Given the description of an element on the screen output the (x, y) to click on. 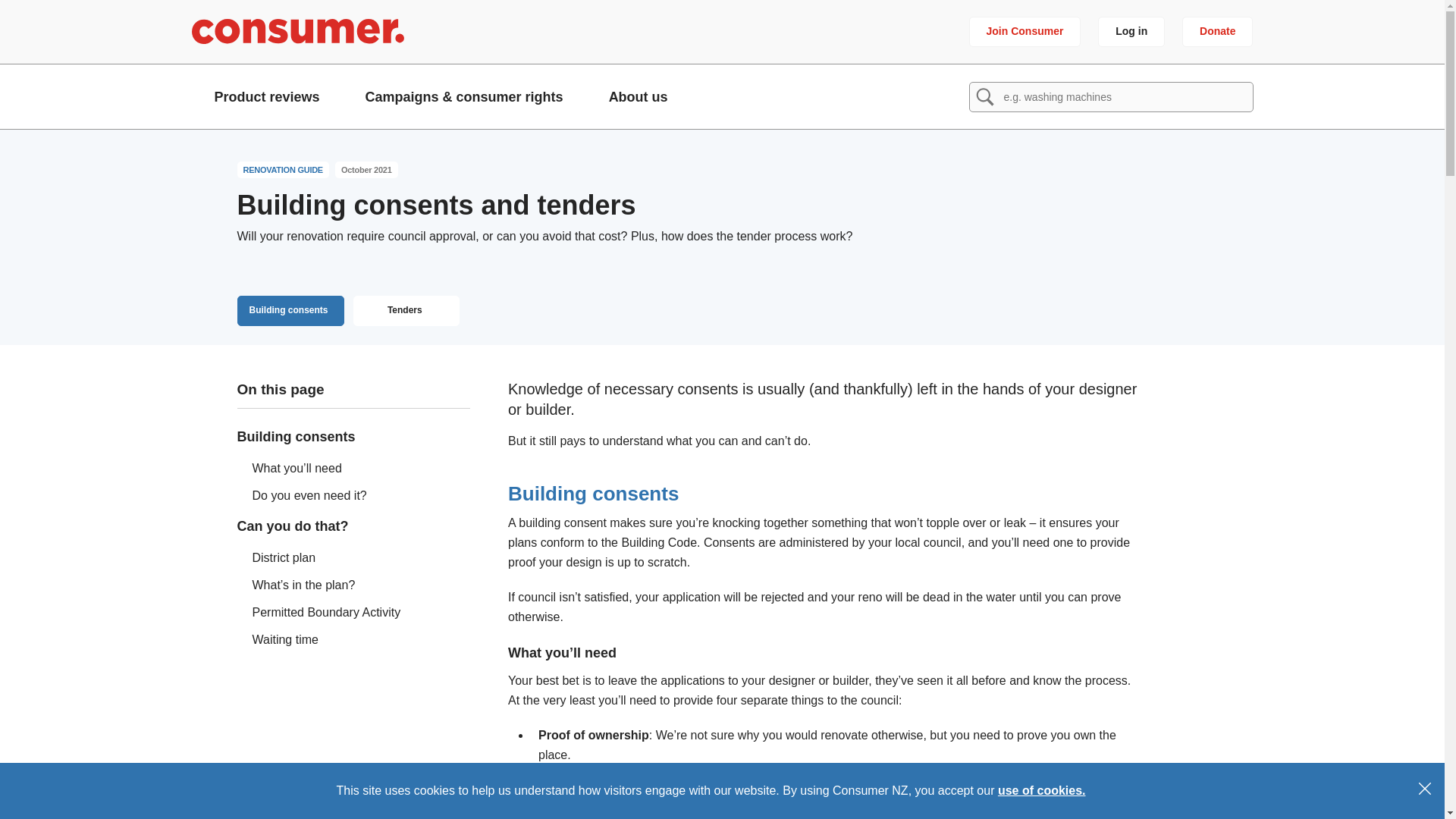
Log in (1130, 31)
About us (638, 96)
Product reviews (266, 96)
Join Consumer (1025, 31)
Consumer home (296, 31)
Donate (1217, 31)
